Given the description of an element on the screen output the (x, y) to click on. 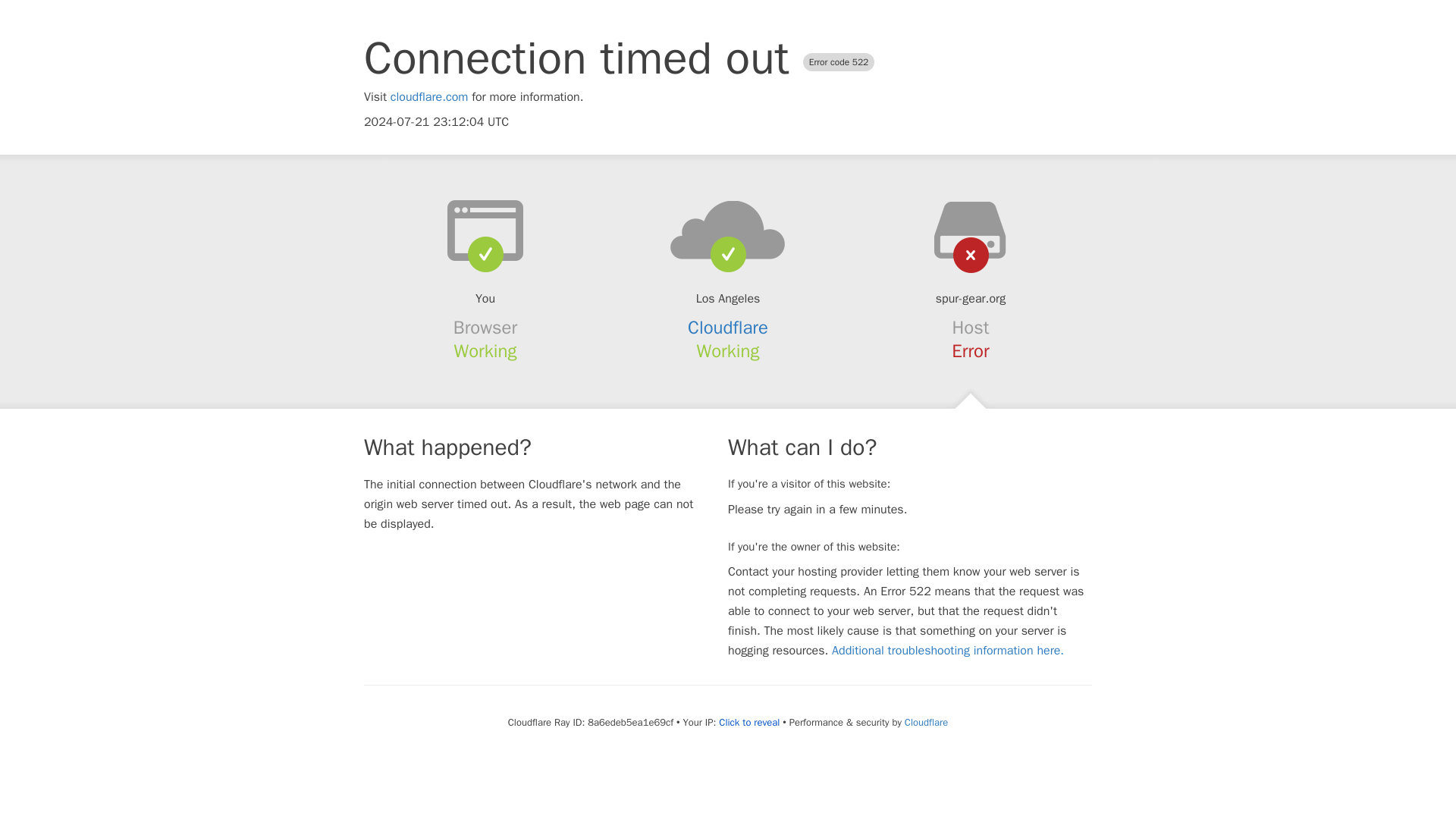
Cloudflare (925, 721)
cloudflare.com (429, 96)
Click to reveal (748, 722)
Cloudflare (727, 327)
Additional troubleshooting information here. (947, 650)
